Given the description of an element on the screen output the (x, y) to click on. 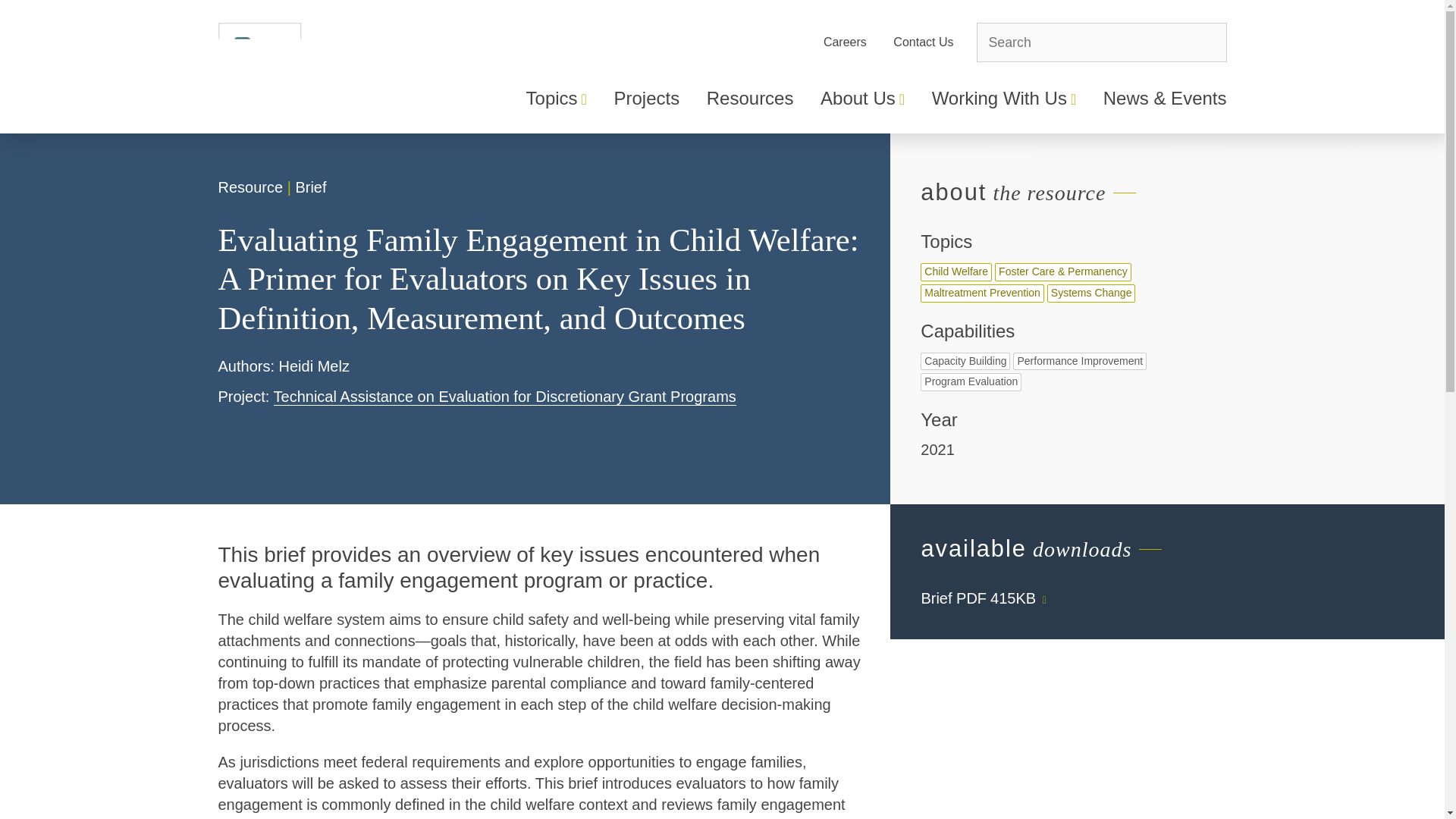
Topics (555, 105)
Child Welfare (955, 271)
Performance Improvement (1080, 361)
About Us (862, 105)
Submit (1202, 42)
Contact Us (923, 42)
Submit (1202, 42)
Search (1100, 42)
Systems Change (1090, 293)
